Given the description of an element on the screen output the (x, y) to click on. 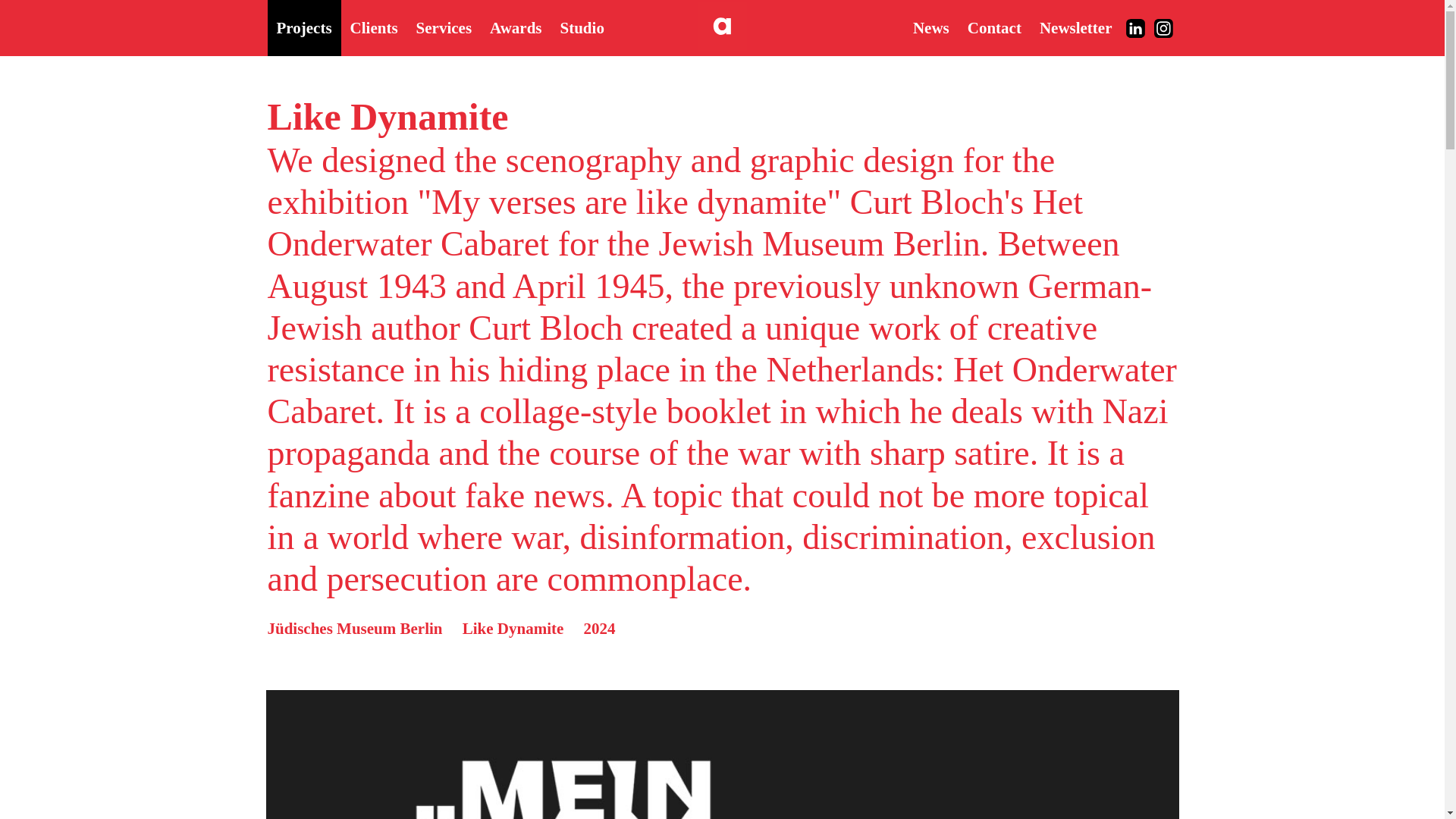
Services (443, 28)
News (931, 28)
Studio (598, 28)
Projects (303, 28)
Awards (515, 28)
Newsletter (1075, 28)
Contact (994, 28)
Clients (373, 28)
